Given the description of an element on the screen output the (x, y) to click on. 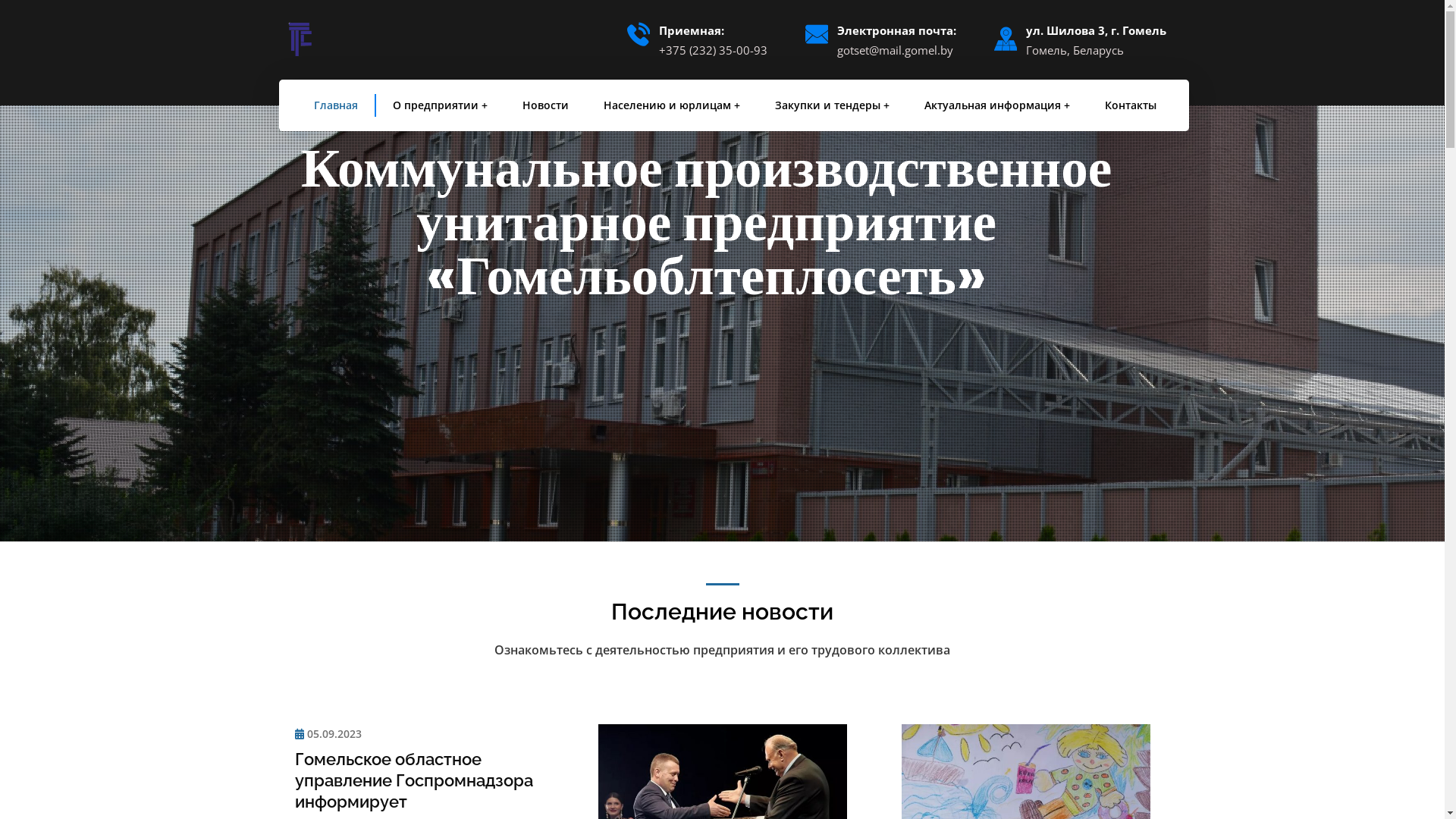
gotset@mail.gomel.by Element type: text (896, 49)
